Given the description of an element on the screen output the (x, y) to click on. 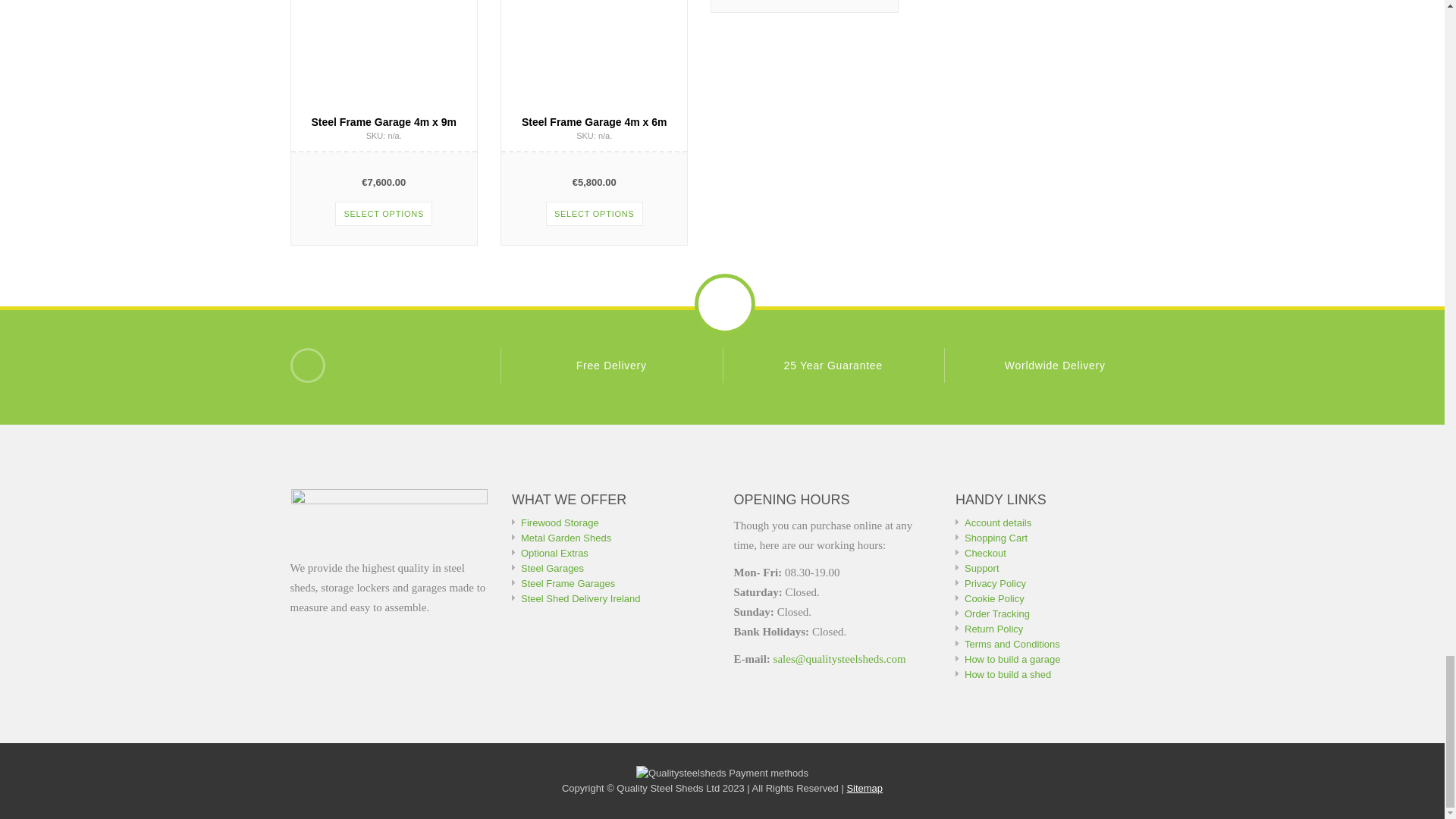
Youtube (306, 365)
